Given the description of an element on the screen output the (x, y) to click on. 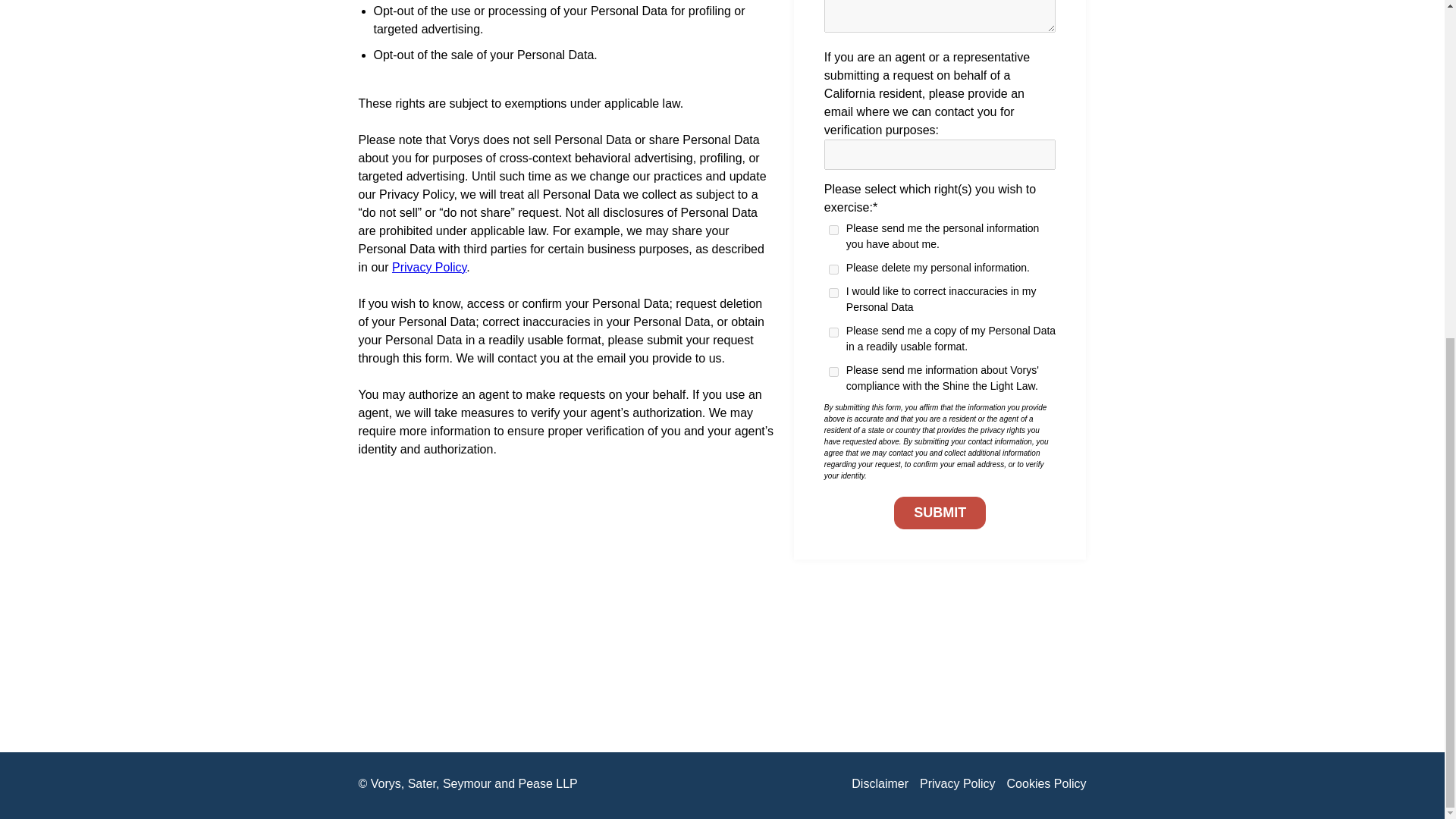
Privacy Policy (428, 267)
Disclaimer (879, 783)
Please Delete My Personal Information. (833, 269)
Submit (939, 512)
Please Send Me the Personal Information you Have About Me. (833, 230)
I would like to correct inaccuracies in my Personal Data (833, 293)
Privacy Policy (957, 783)
Cookies Policy (1046, 783)
